Given the description of an element on the screen output the (x, y) to click on. 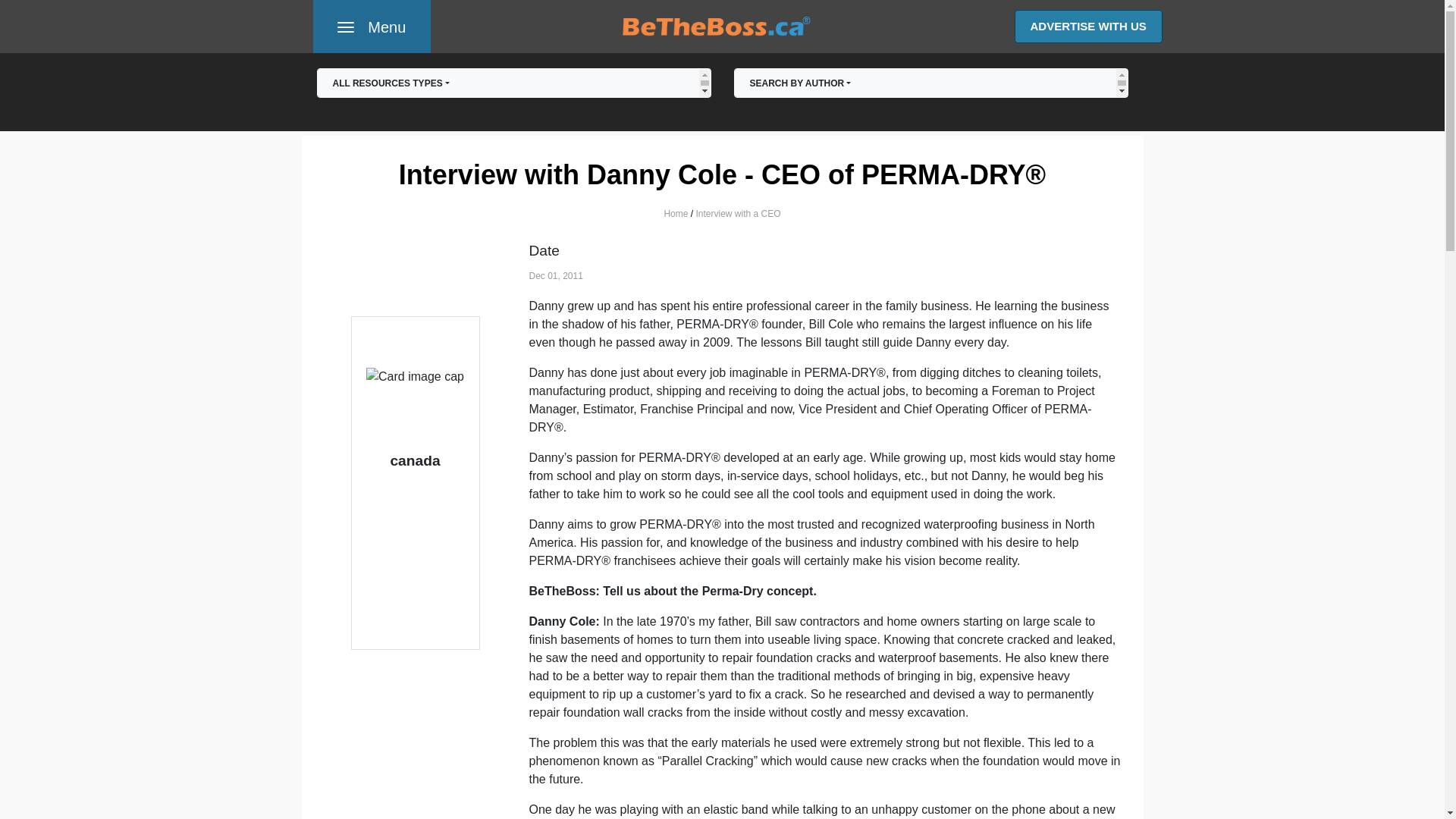
ADVERTISE WITH US (371, 26)
